Given the description of an element on the screen output the (x, y) to click on. 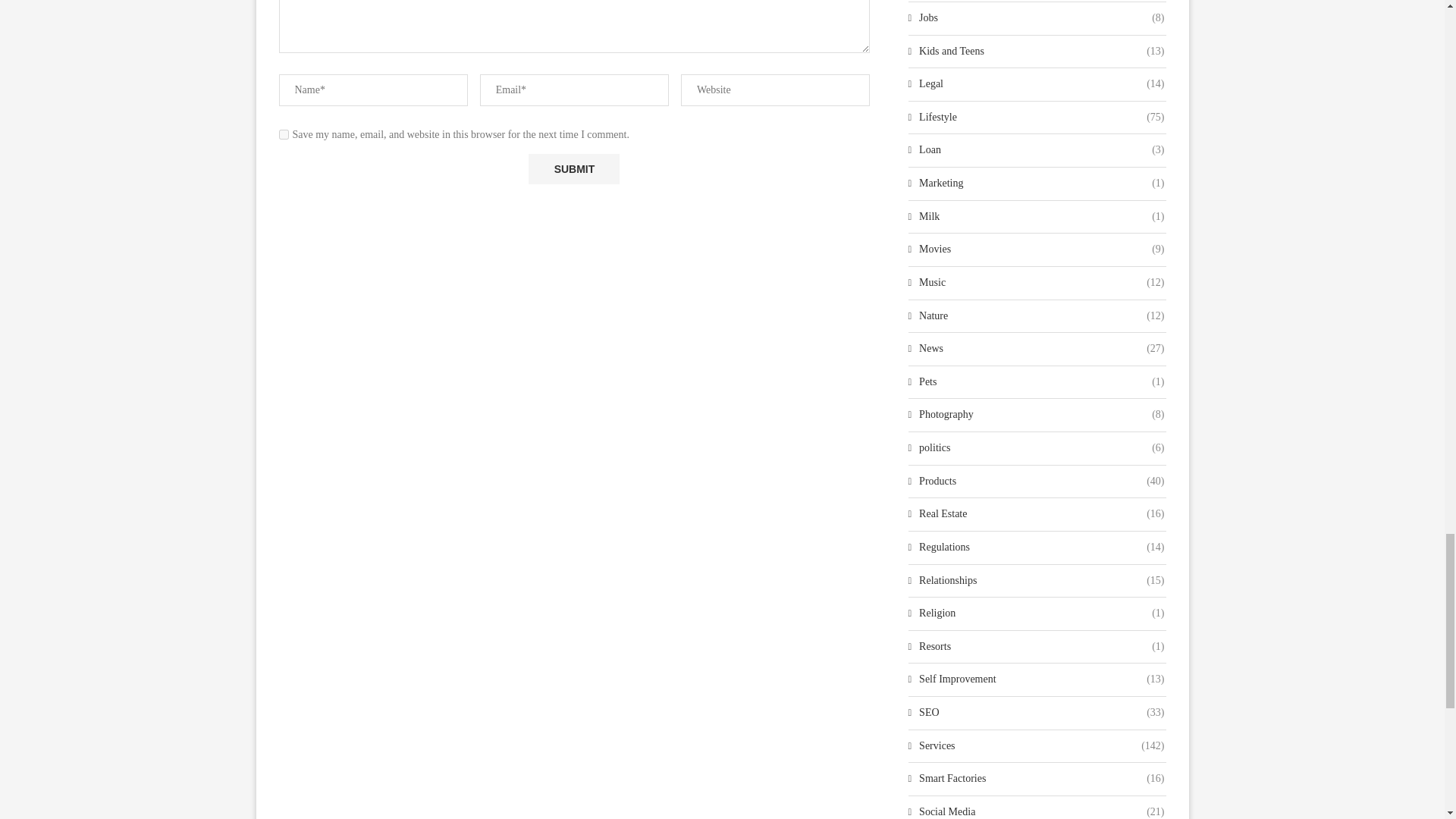
Submit (574, 168)
yes (283, 134)
